Given the description of an element on the screen output the (x, y) to click on. 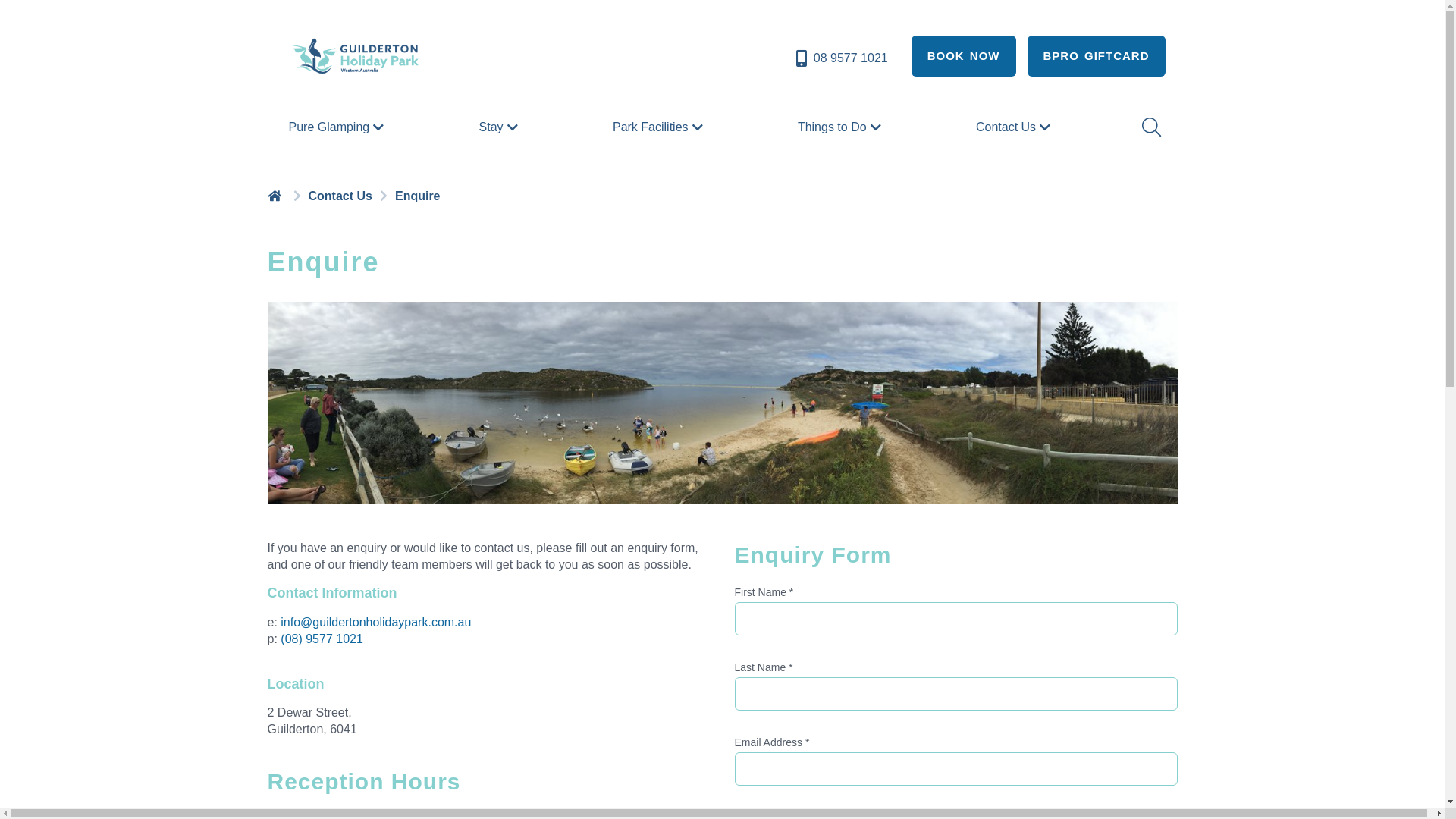
  Element type: text (275, 195)
Contact Us Element type: text (1014, 127)
Pure Glamping Element type: text (337, 127)
BPRO GIFTCARD Element type: text (1095, 55)
BOOK NOW Element type: text (963, 55)
Stay Element type: text (500, 127)
(08) 9577 1021 Element type: text (321, 638)
Search Element type: text (1150, 127)
08 9577 1021 Element type: text (840, 58)
Park Facilities Element type: text (659, 127)
info@guildertonholidaypark.com.au Element type: text (375, 621)
Things to Do Element type: text (841, 127)
